Given the description of an element on the screen output the (x, y) to click on. 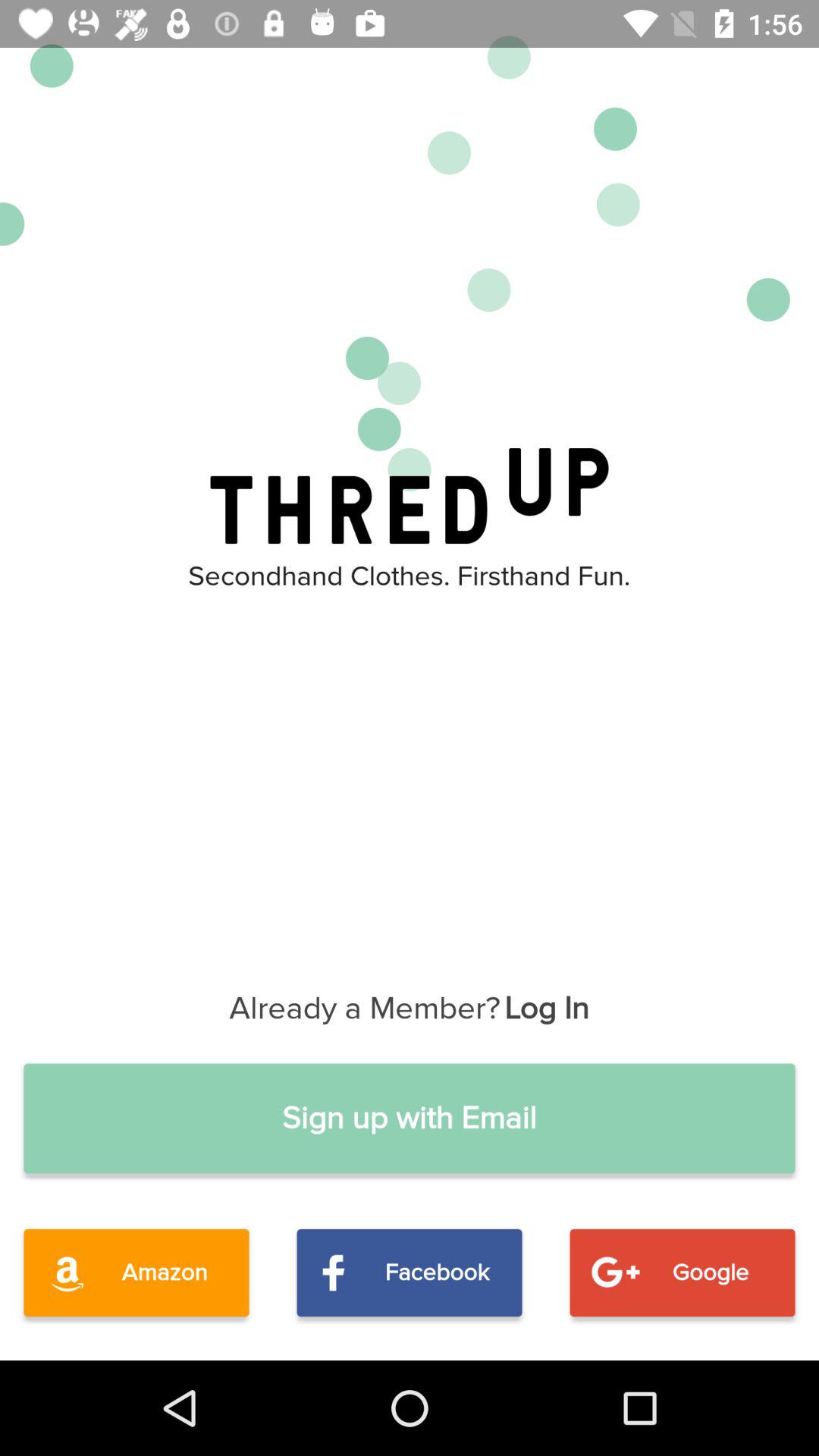
choose google item (682, 1272)
